Given the description of an element on the screen output the (x, y) to click on. 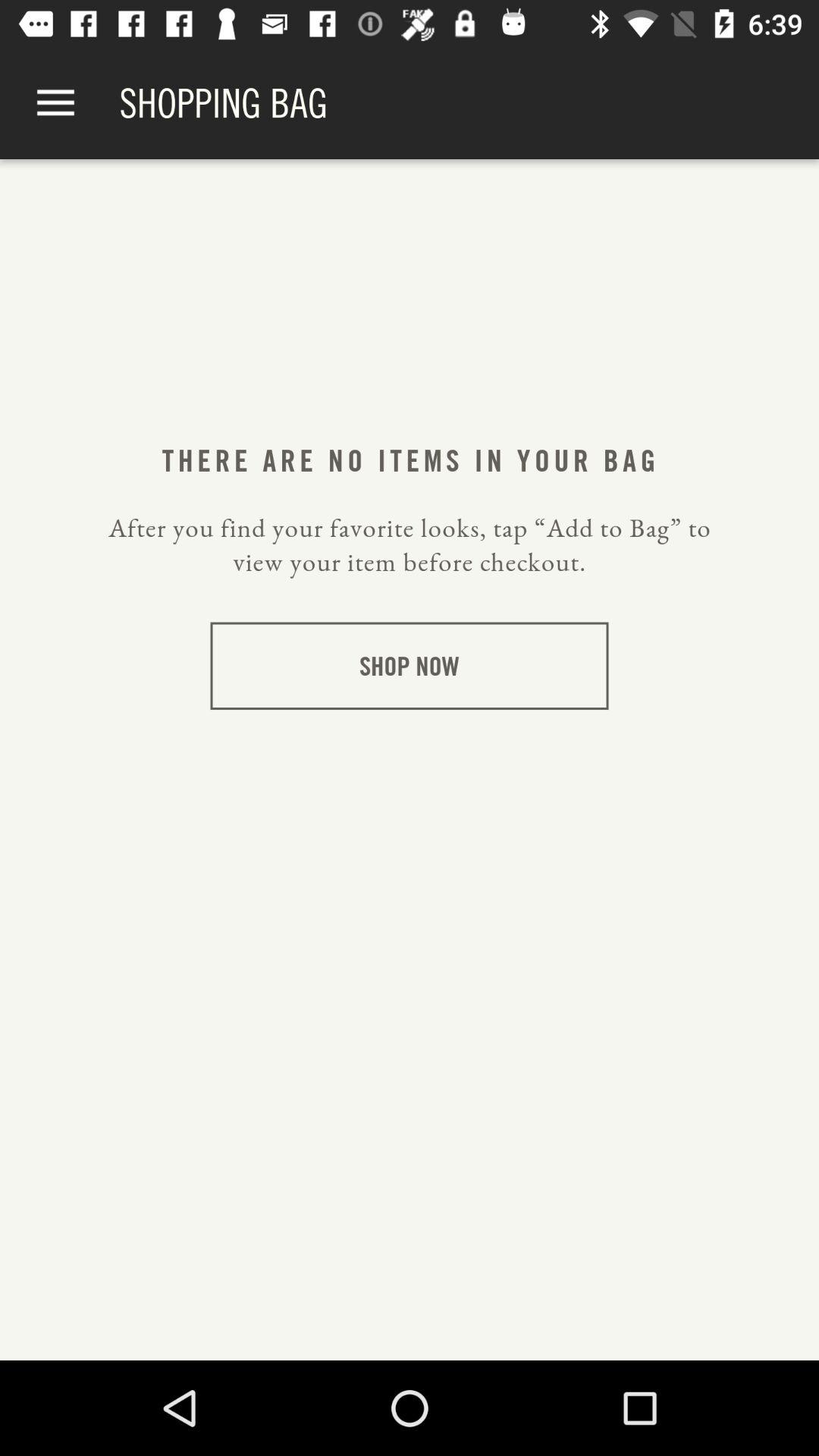
open the item above shop now (409, 544)
